Given the description of an element on the screen output the (x, y) to click on. 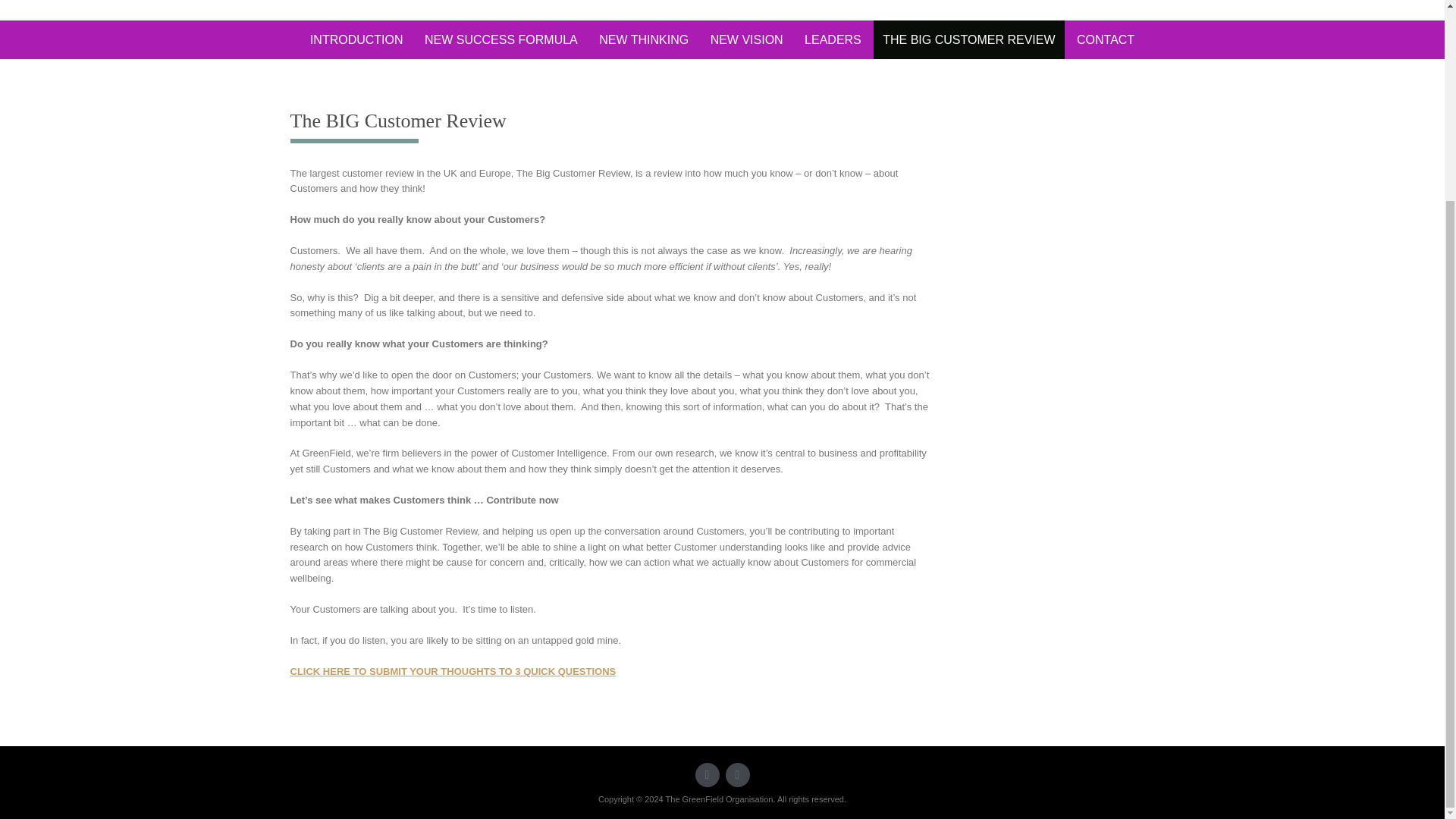
THE BIG CUSTOMER REVIEW (968, 39)
INTRODUCTION (356, 39)
NEW VISION (746, 39)
Twitter (706, 774)
LEADERS (832, 39)
NEW SUCCESS FORMULA (500, 39)
CLICK HERE TO SUBMIT YOUR THOUGHTS TO 3 QUICK QUESTIONS (452, 671)
NEW THINKING (643, 39)
CONTACT (1104, 39)
WordPress (737, 774)
